Given the description of an element on the screen output the (x, y) to click on. 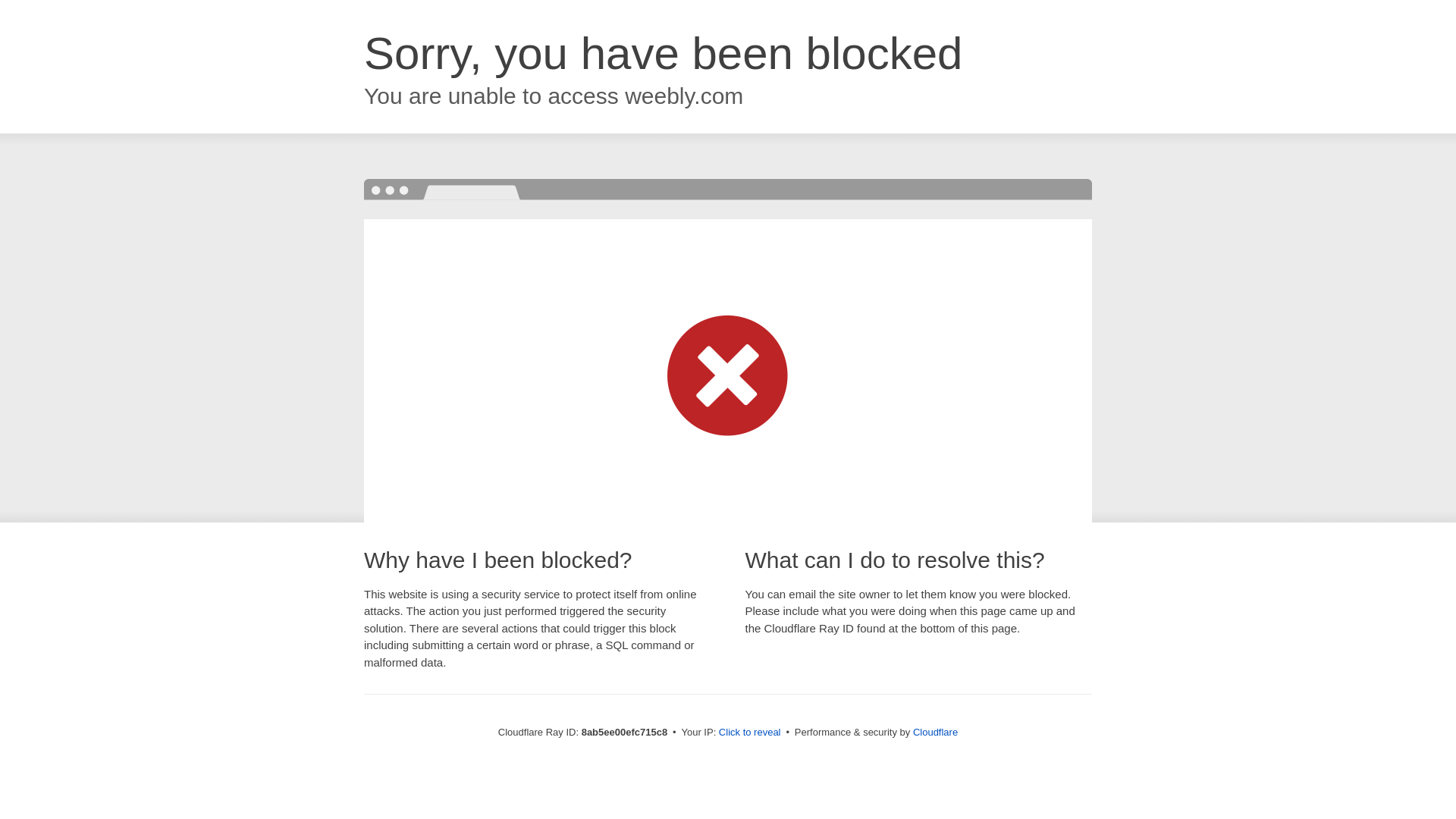
Cloudflare (935, 731)
Click to reveal (749, 732)
